Given the description of an element on the screen output the (x, y) to click on. 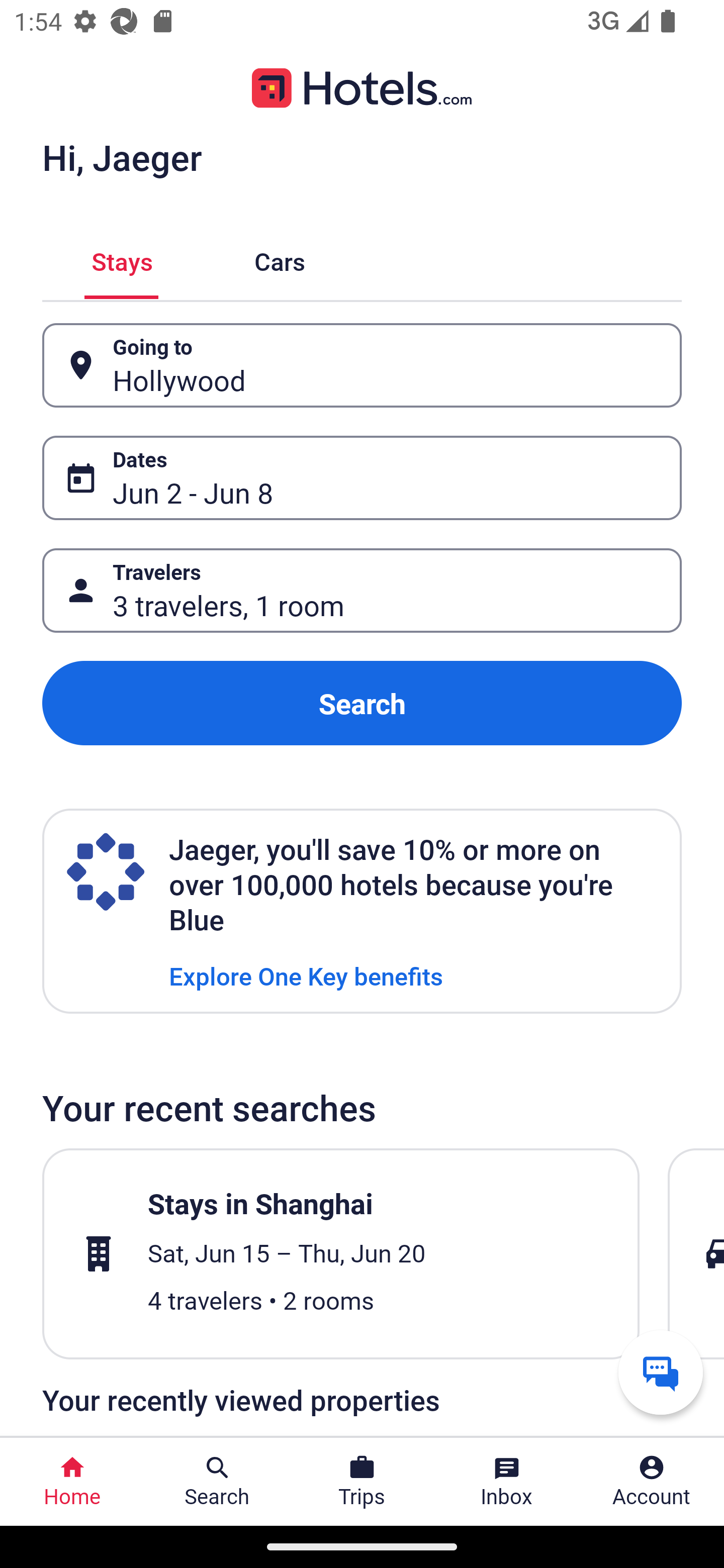
Hi, Jaeger (121, 156)
Cars (279, 259)
Going to Button Hollywood (361, 365)
Dates Button Jun 2 - Jun 8 (361, 477)
Travelers Button 3 travelers, 1 room (361, 590)
Search (361, 702)
Get help from a virtual agent (660, 1371)
Search Search Button (216, 1481)
Trips Trips Button (361, 1481)
Inbox Inbox Button (506, 1481)
Account Profile. Button (651, 1481)
